Given the description of an element on the screen output the (x, y) to click on. 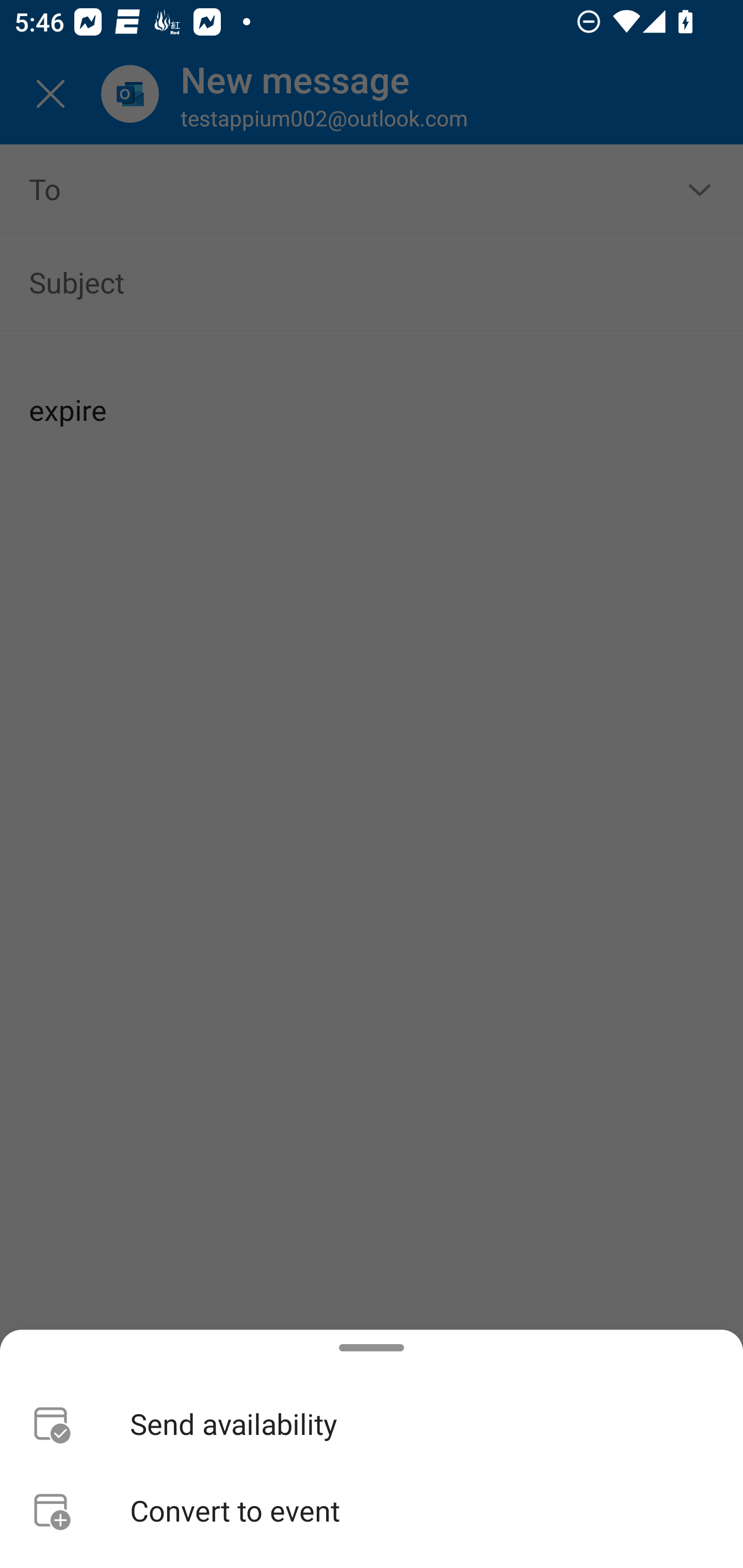
Send availability (371, 1423)
Convert to event (371, 1510)
